Given the description of an element on the screen output the (x, y) to click on. 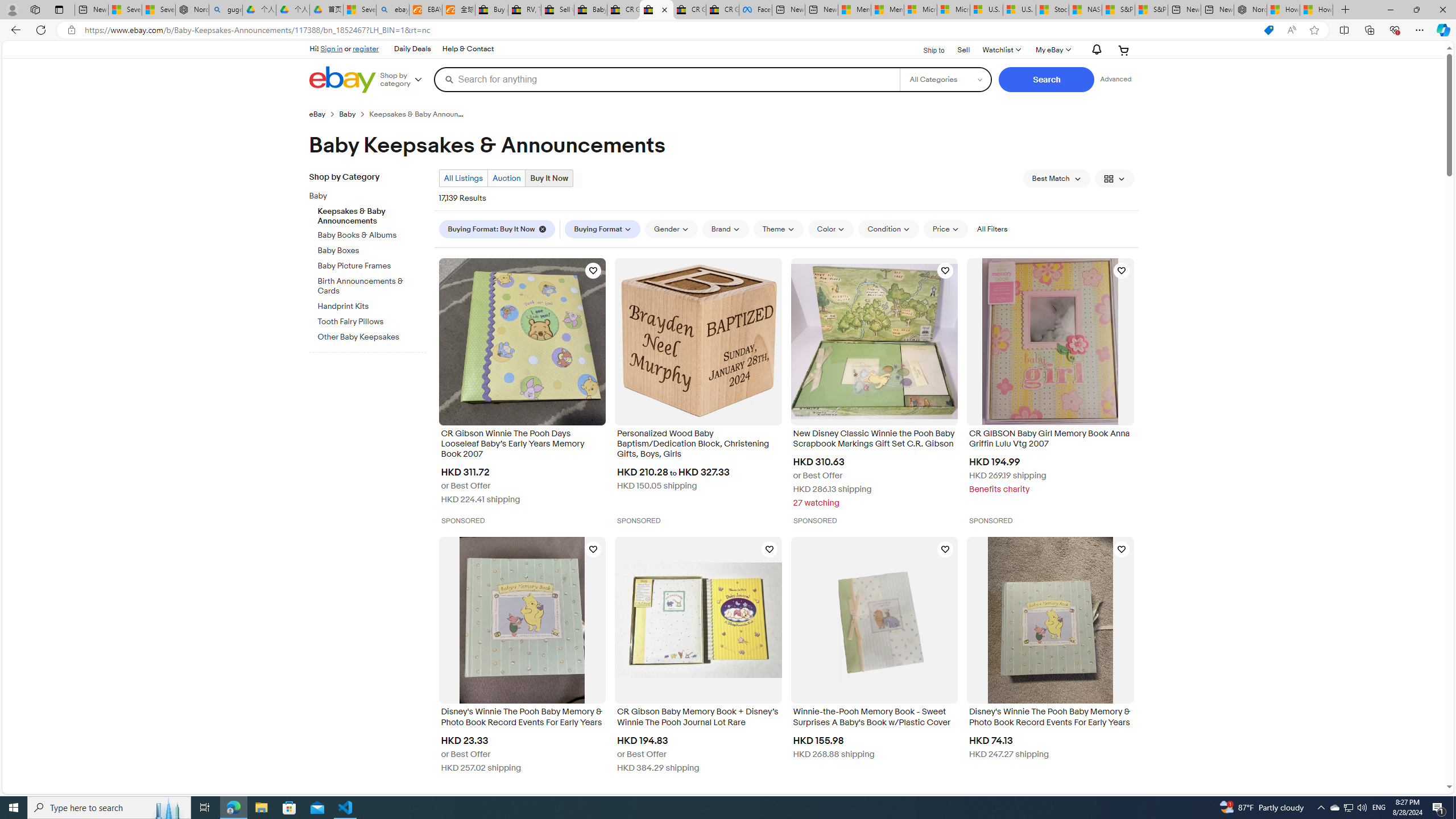
Color (831, 229)
Your shopping cart (1123, 49)
Baby Picture Frames (371, 266)
Price (945, 229)
Daily Deals (412, 49)
All Listings (462, 177)
Advanced Search (1115, 78)
My eBayExpand My eBay (1052, 49)
